Given the description of an element on the screen output the (x, y) to click on. 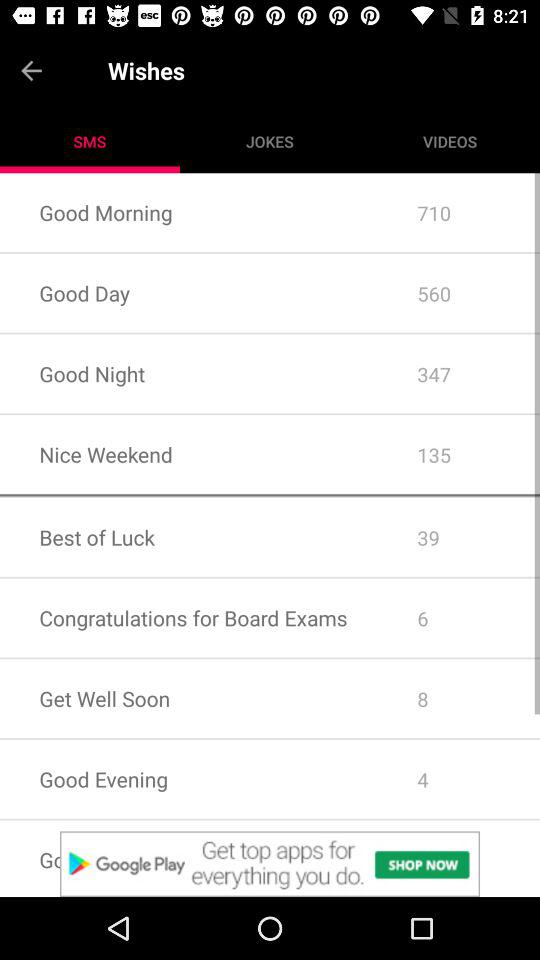
go back a page (54, 70)
